Given the description of an element on the screen output the (x, y) to click on. 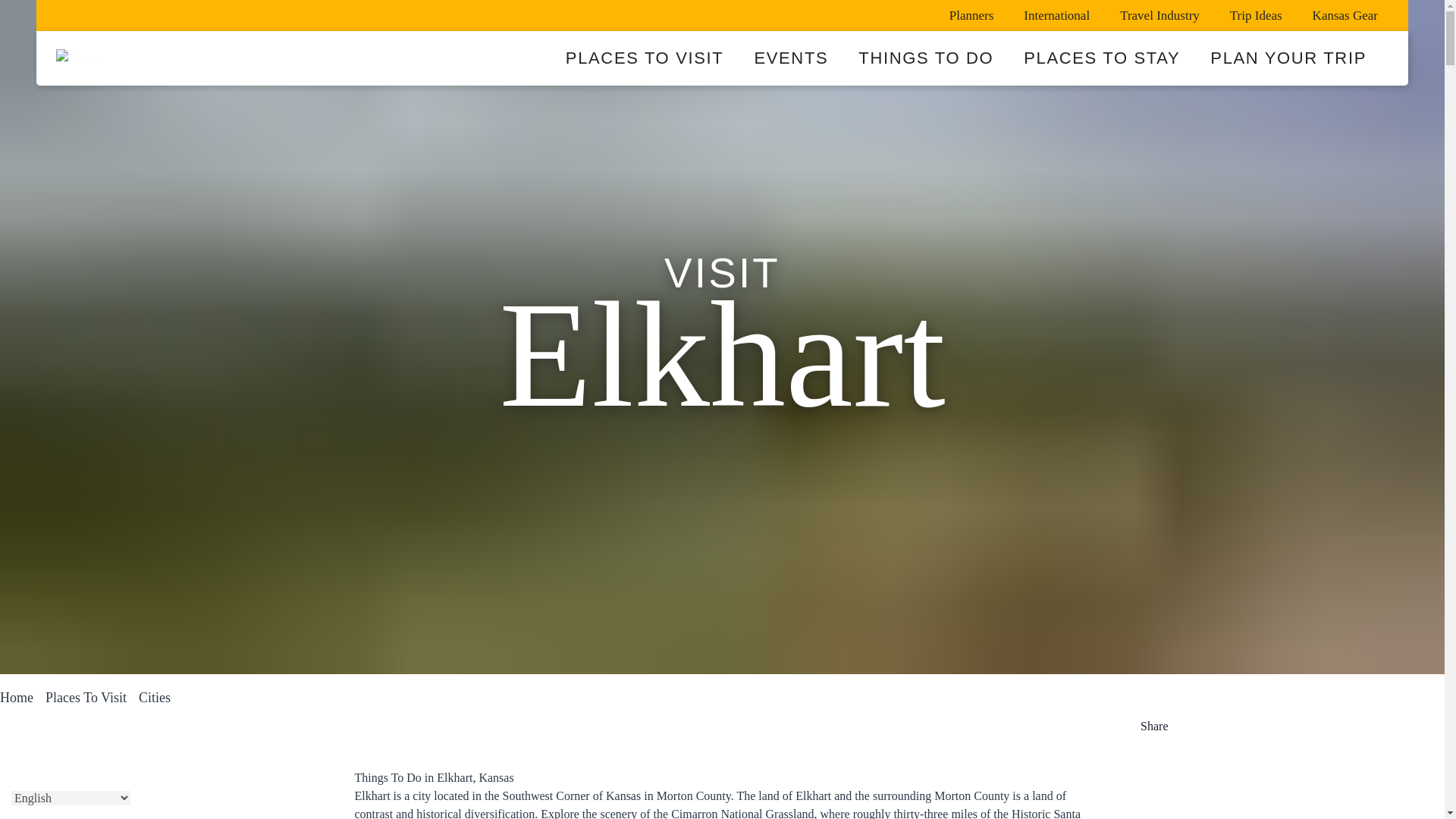
Trip Ideas (1255, 15)
PLAN YOUR TRIP (1288, 58)
EVENTS (790, 58)
THINGS TO DO (926, 58)
PLACES TO STAY (1102, 58)
International (1057, 15)
Travel Industry (1159, 15)
Planners (971, 15)
Kansas Gear (1345, 15)
PLACES TO VISIT (644, 58)
